Given the description of an element on the screen output the (x, y) to click on. 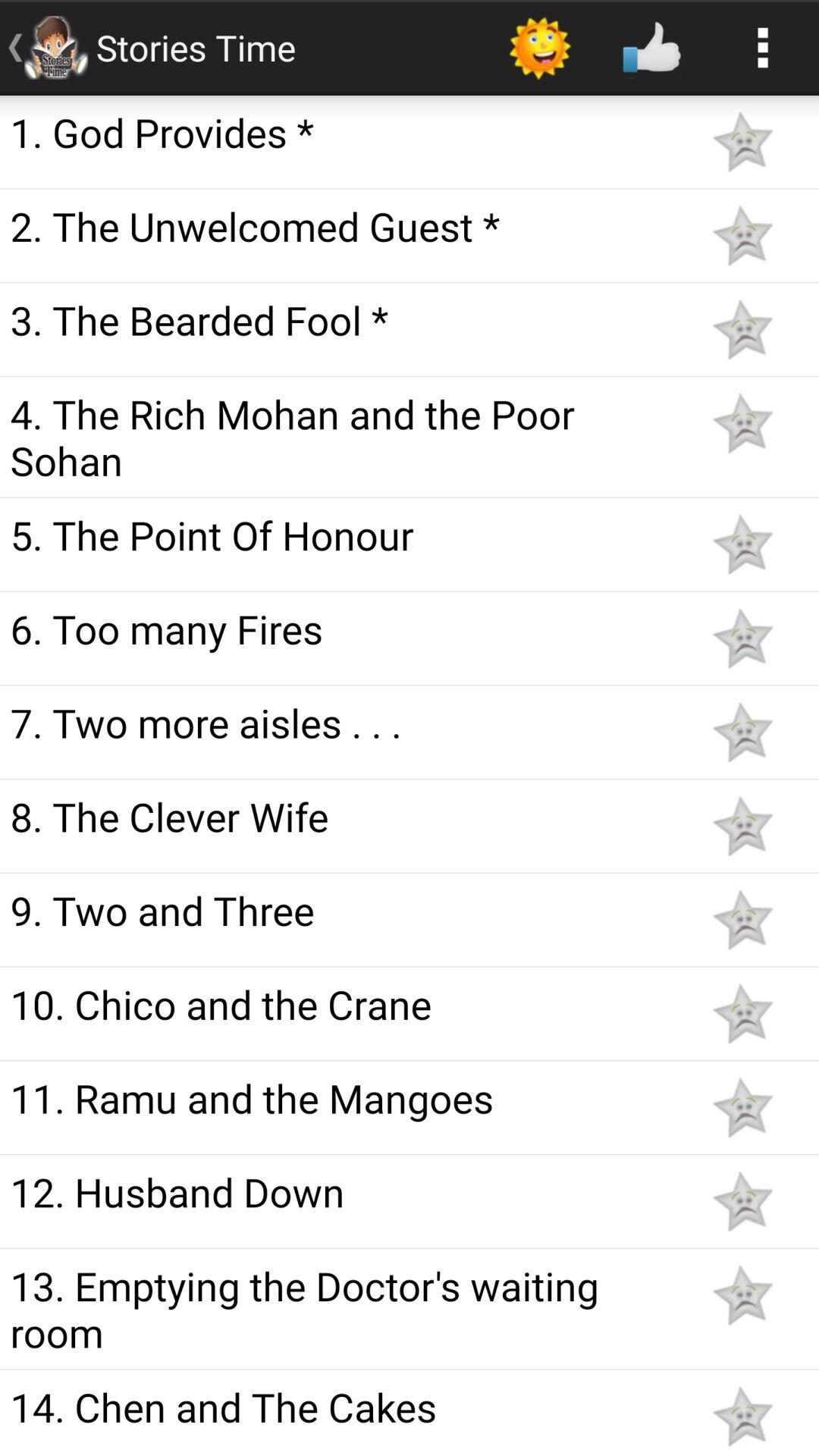
select icon above the 2 the unwelcomed (343, 131)
